Given the description of an element on the screen output the (x, y) to click on. 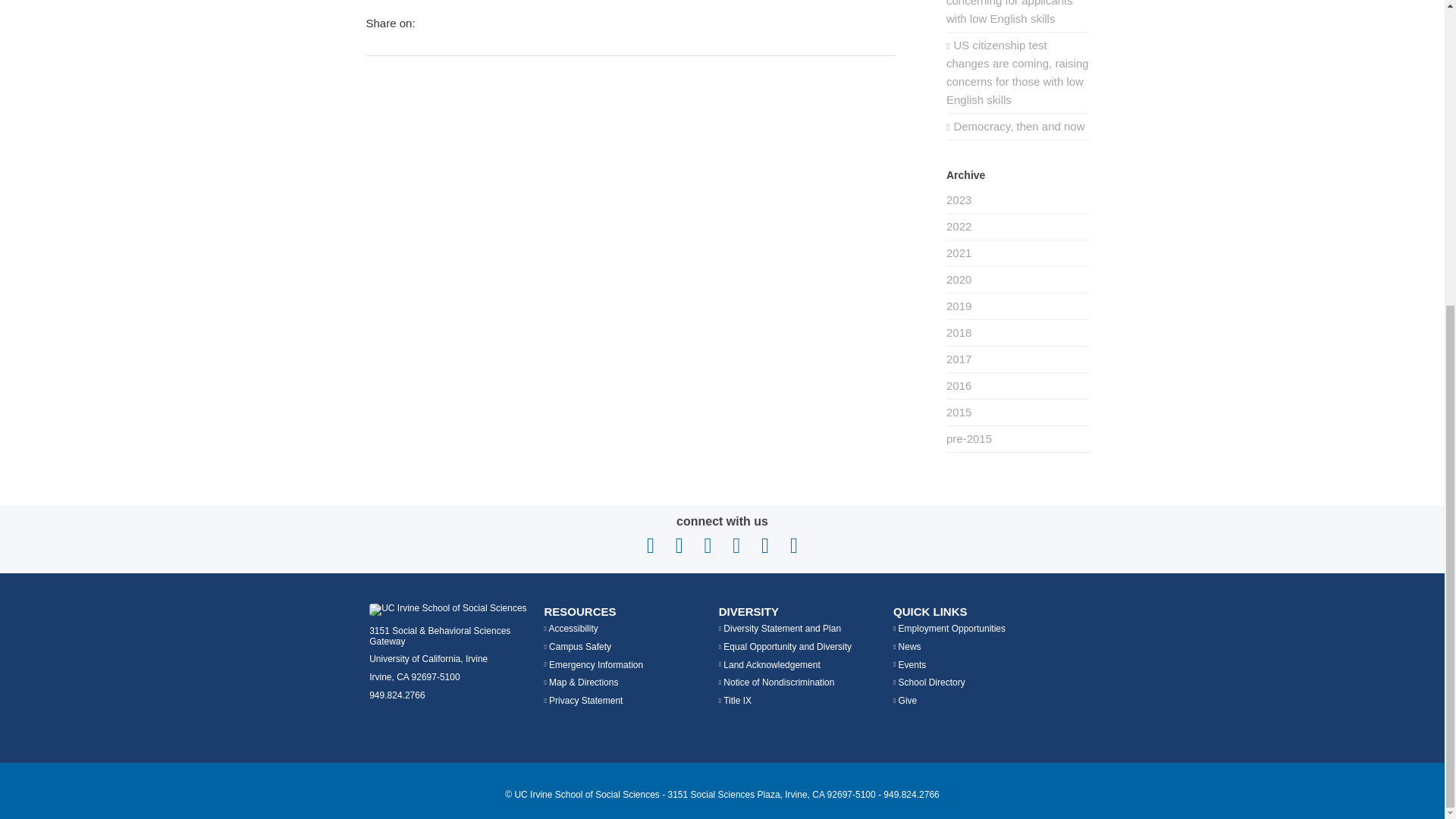
Equal Opportunity and Diversity (785, 646)
Emergency Information (593, 665)
Accessibility (569, 628)
Diversity Statement and Plan (780, 628)
Democracy, then and now (1017, 126)
Campus Safety (577, 646)
Privacy Statement (583, 700)
